Given the description of an element on the screen output the (x, y) to click on. 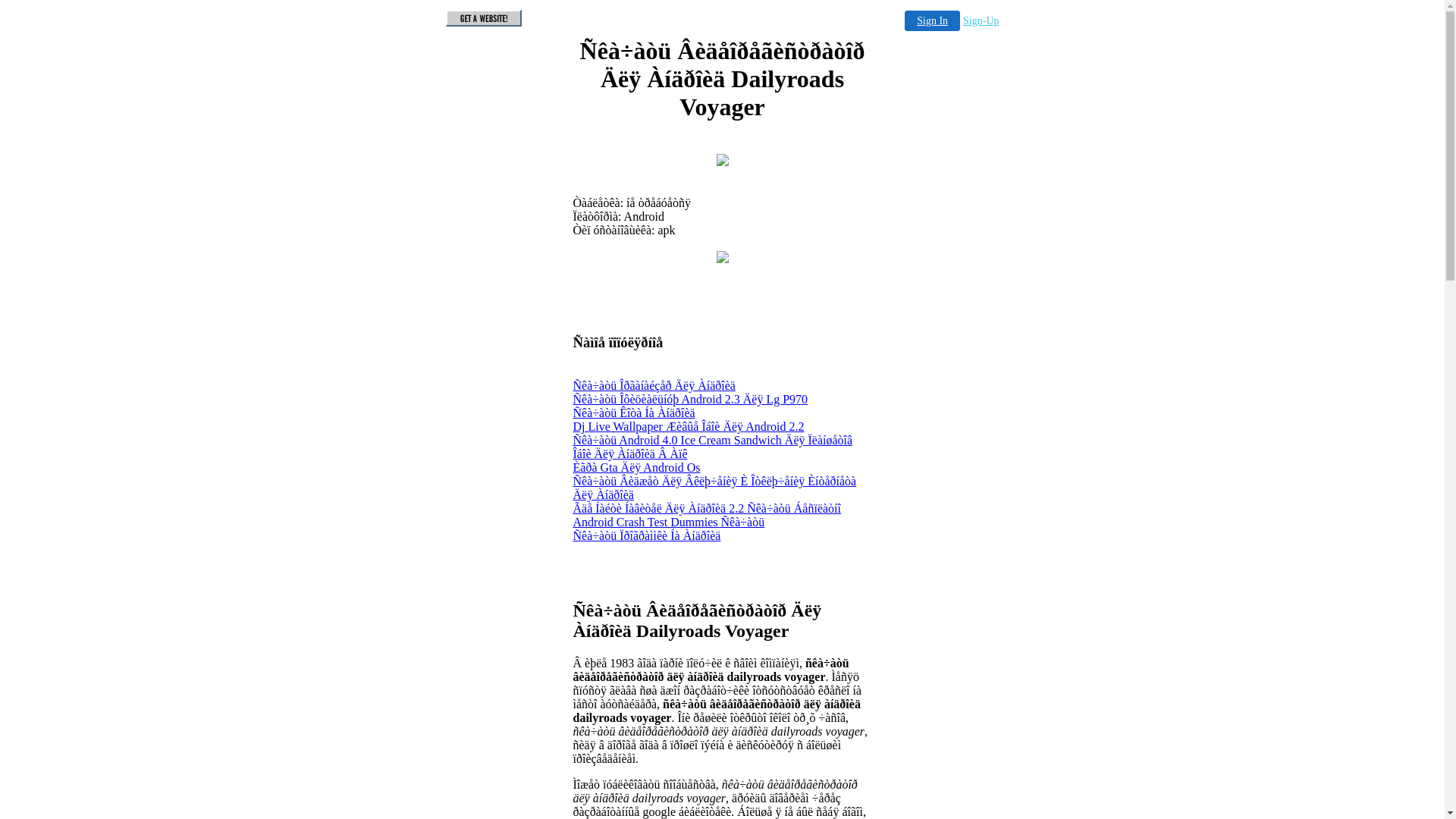
Sign In Element type: text (932, 20)
Sign-Up Element type: text (980, 20)
